Given the description of an element on the screen output the (x, y) to click on. 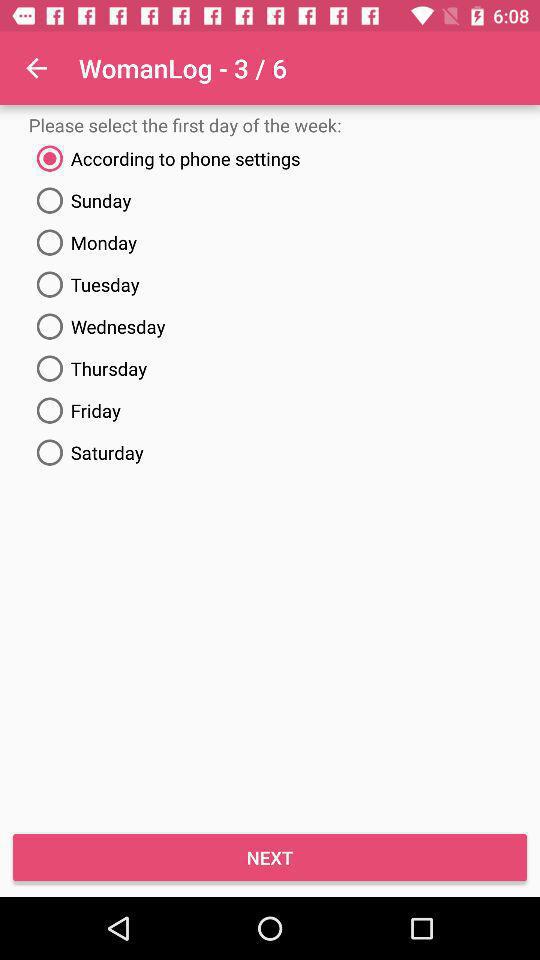
choose monday item (269, 242)
